Given the description of an element on the screen output the (x, y) to click on. 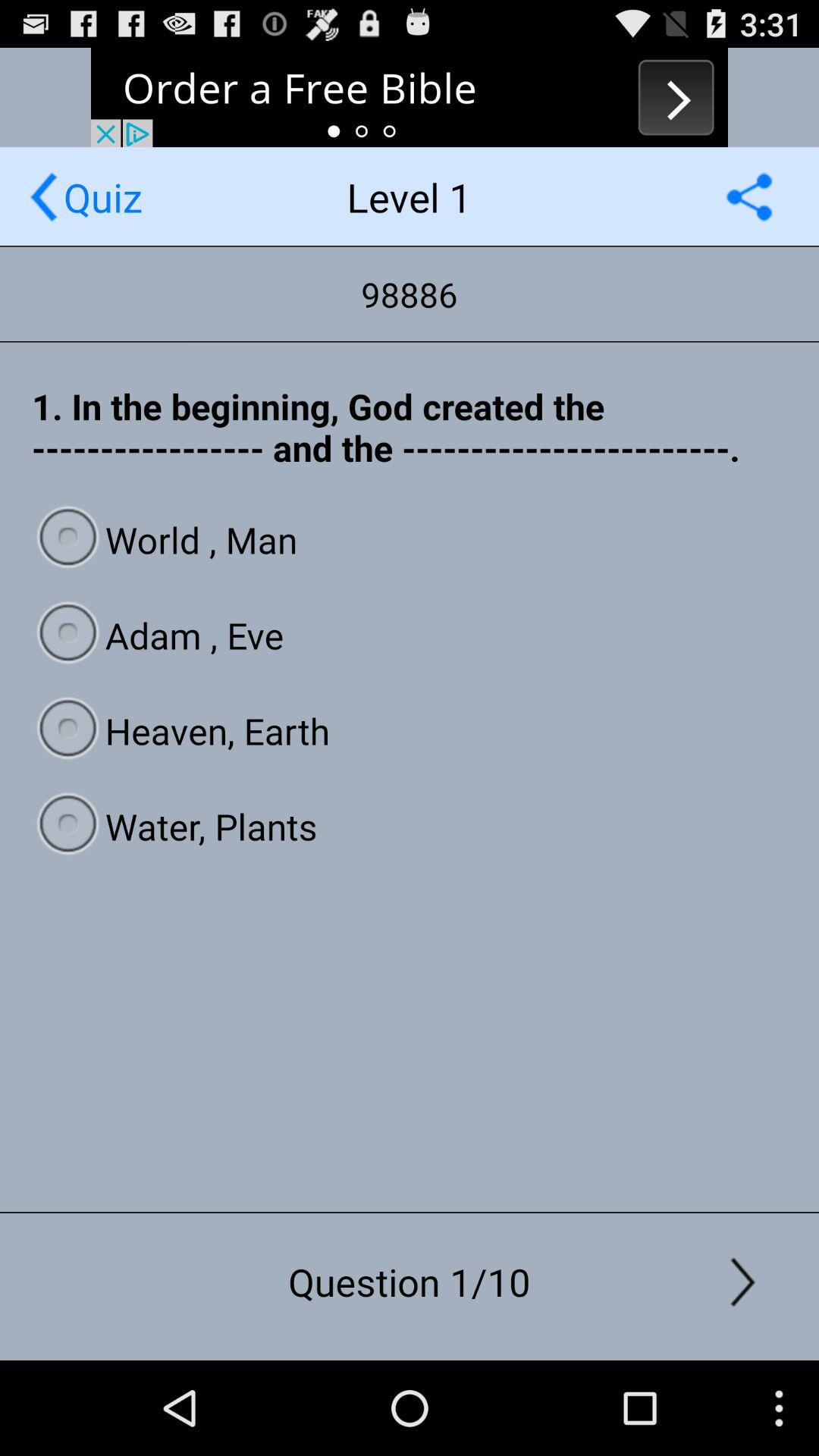
go to previous (409, 97)
